Given the description of an element on the screen output the (x, y) to click on. 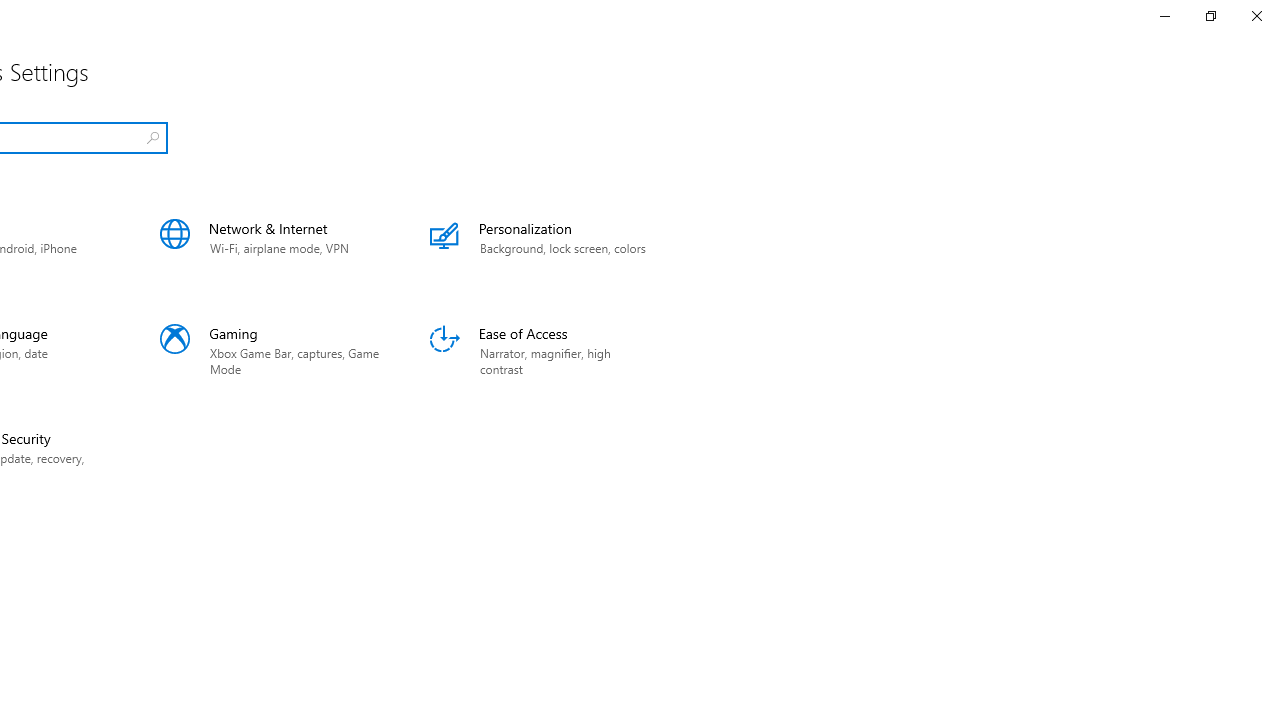
Personalization (539, 245)
Network & Internet (269, 245)
Ease of Access (539, 350)
Close Settings (1256, 15)
Restore Settings (1210, 15)
Minimize Settings (1164, 15)
